Given the description of an element on the screen output the (x, y) to click on. 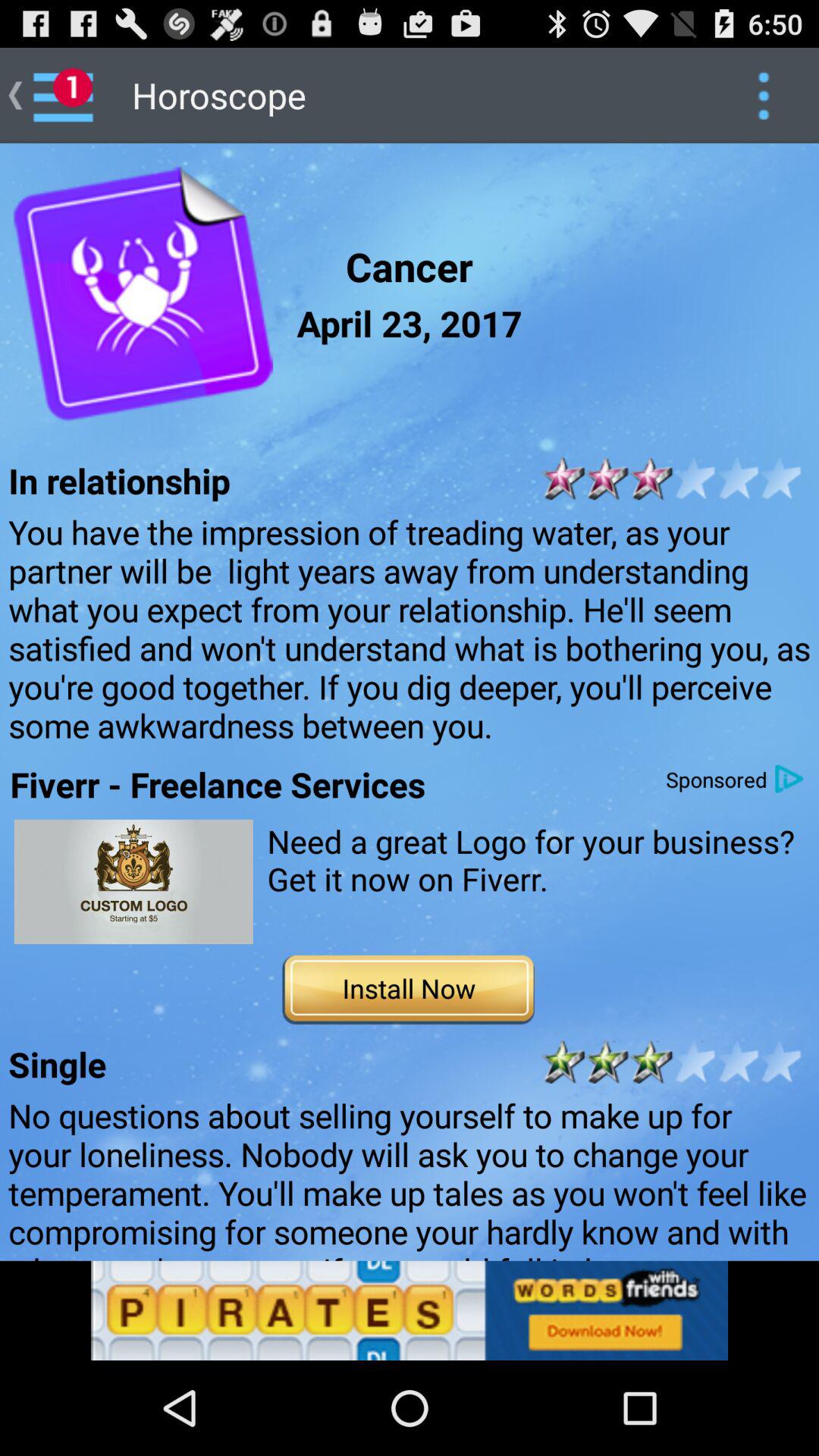
open advertisement (133, 881)
